Given the description of an element on the screen output the (x, y) to click on. 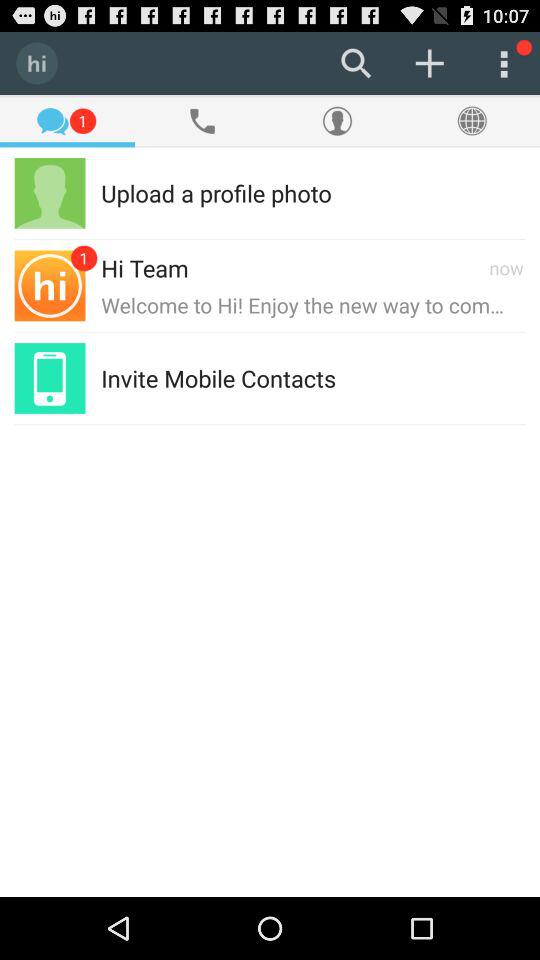
select the item next to the invite mobile contacts item (430, 378)
